Given the description of an element on the screen output the (x, y) to click on. 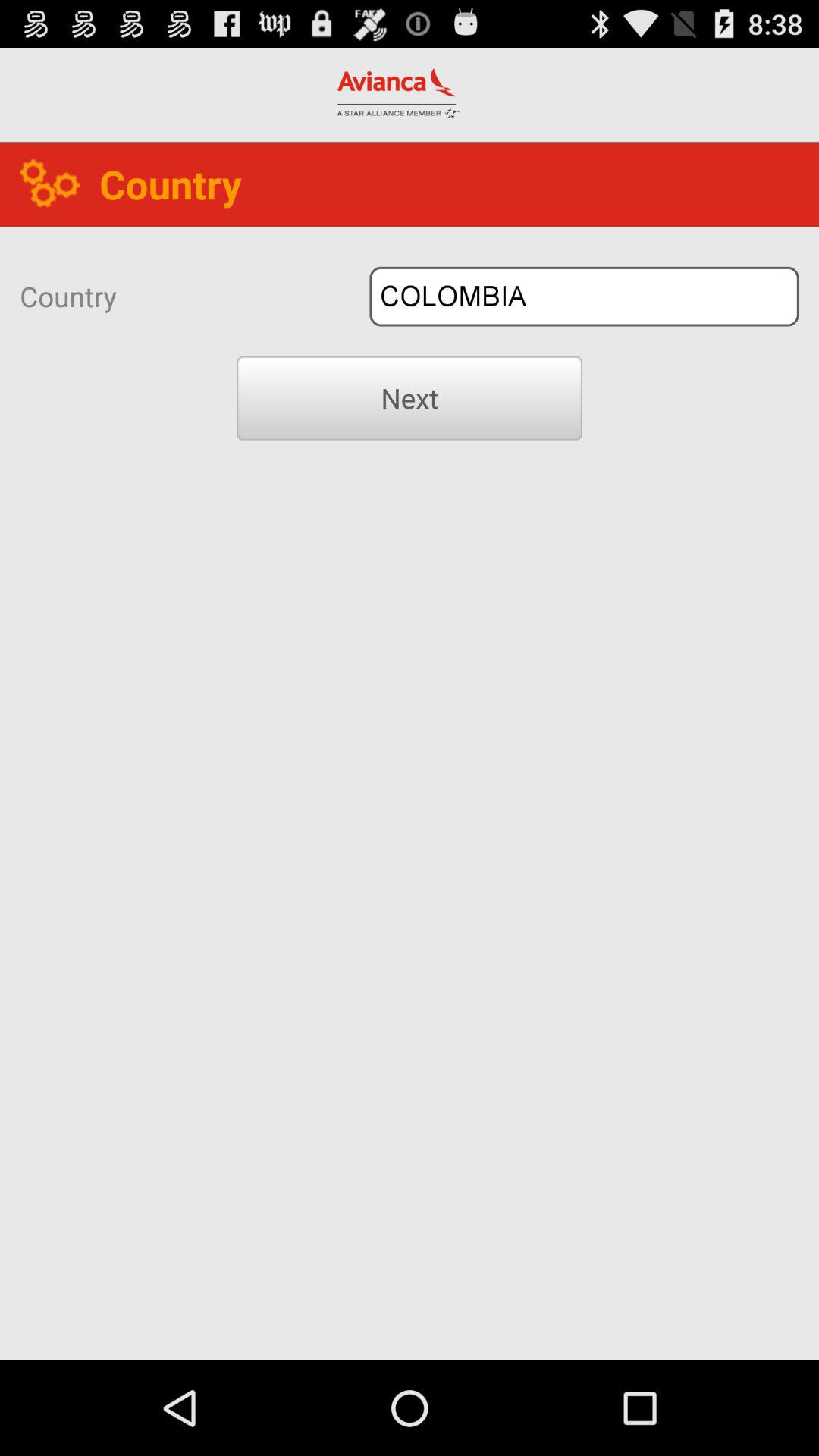
scroll to the next button (409, 398)
